Given the description of an element on the screen output the (x, y) to click on. 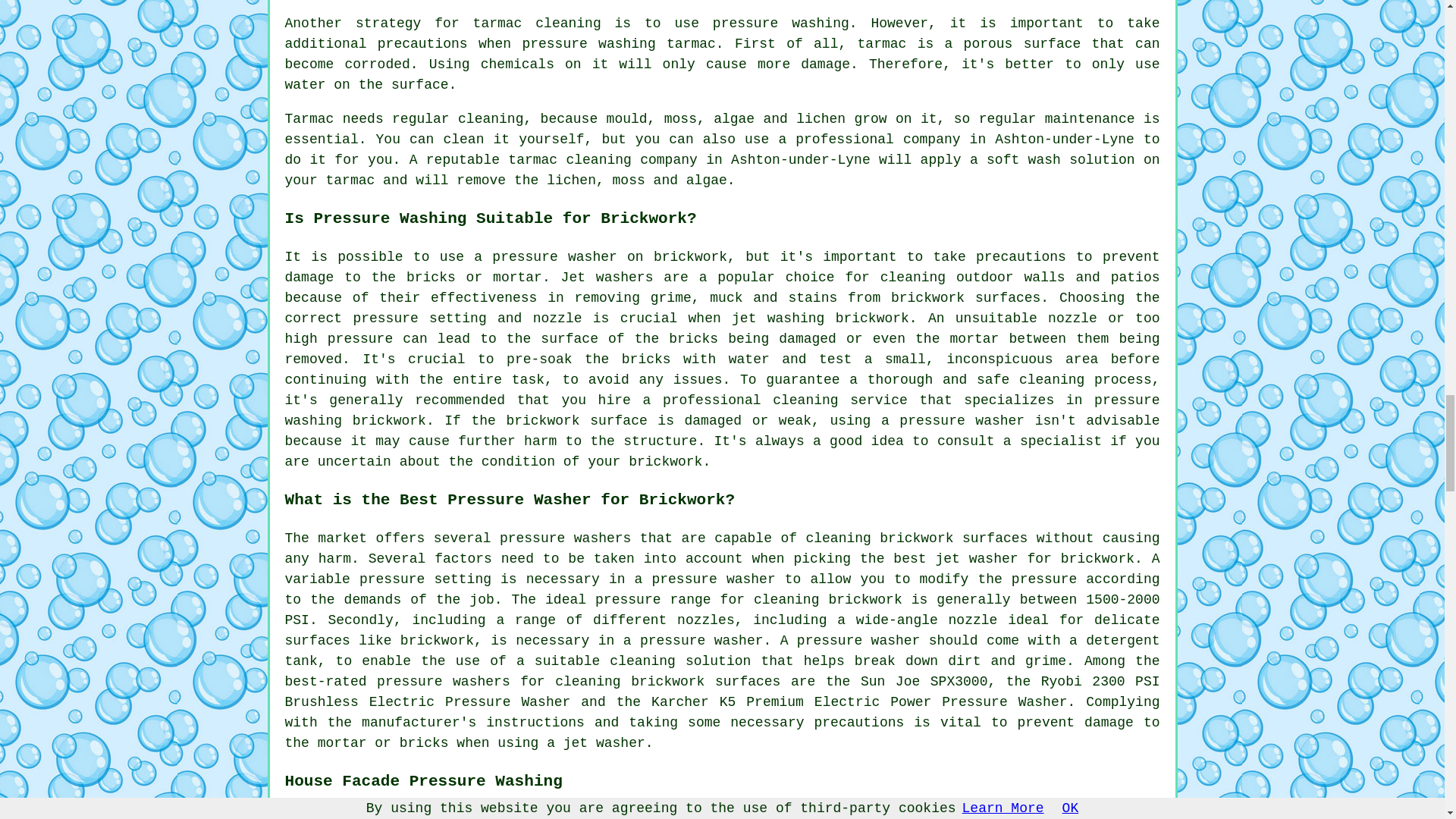
pressure washer (553, 256)
pressure washers (444, 681)
